Given the description of an element on the screen output the (x, y) to click on. 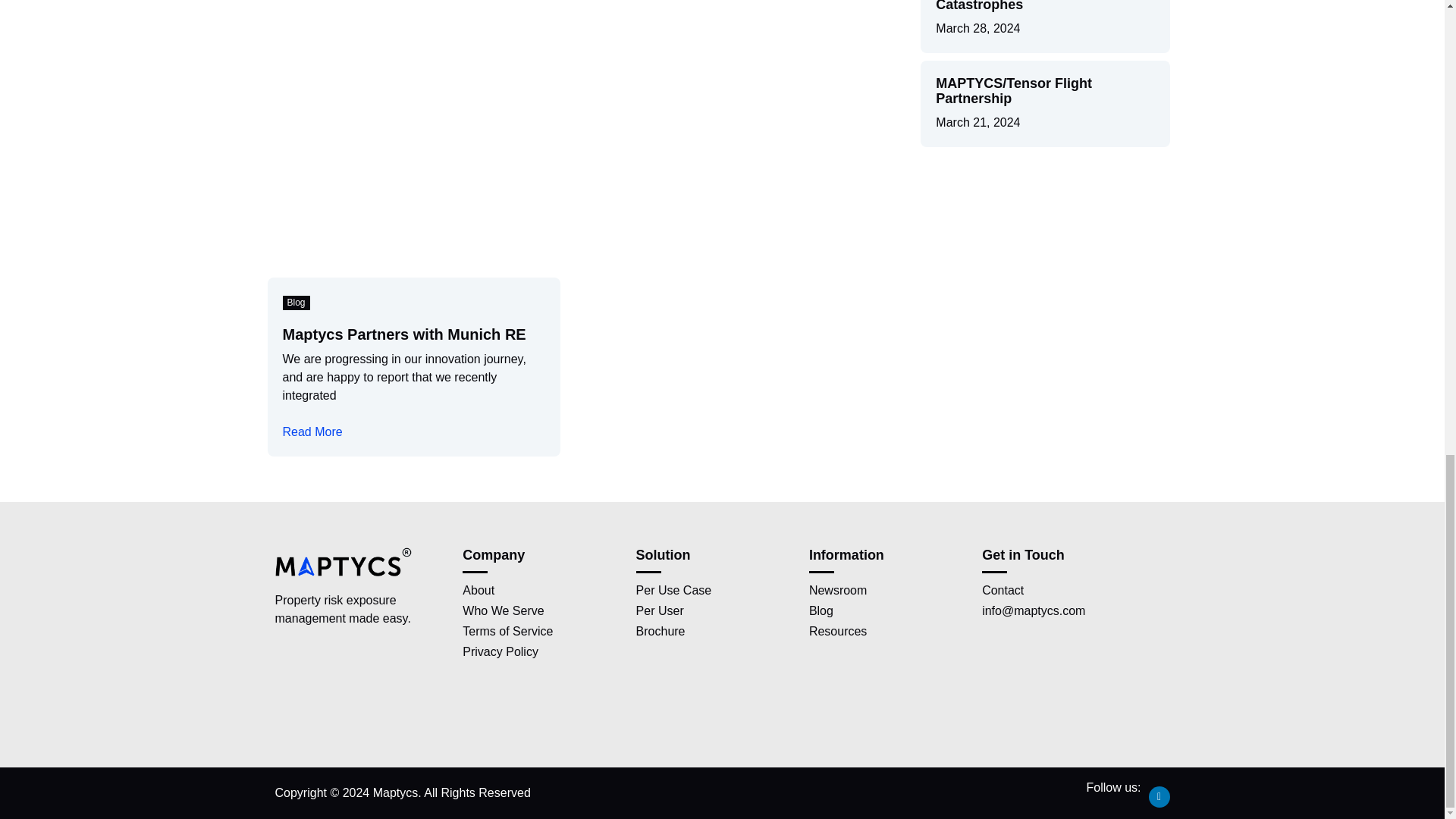
March 28, 2024 (978, 28)
Global Losses from Natural Catastrophes (1024, 6)
